Given the description of an element on the screen output the (x, y) to click on. 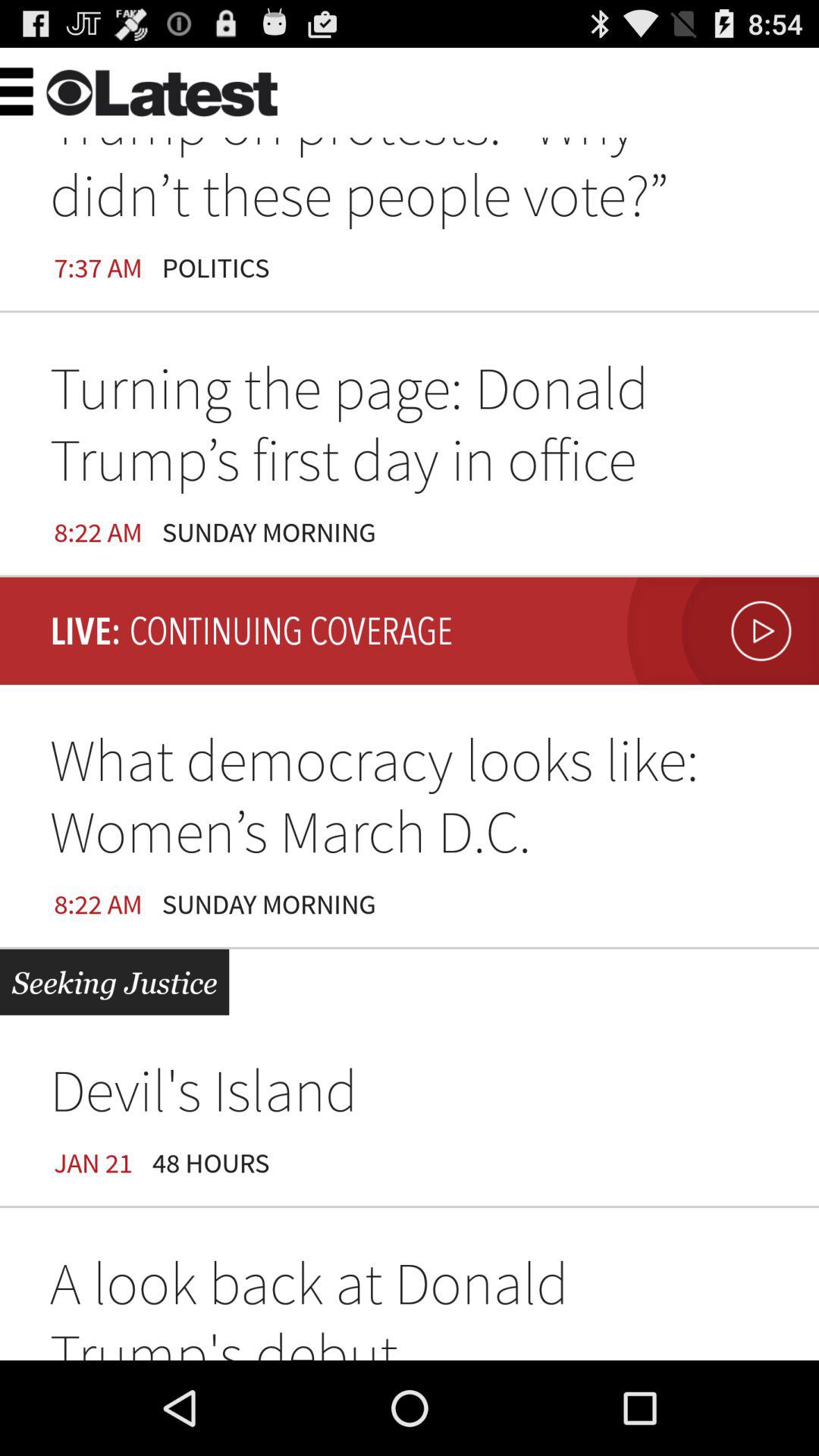
click the a look back (409, 1303)
